Given the description of an element on the screen output the (x, y) to click on. 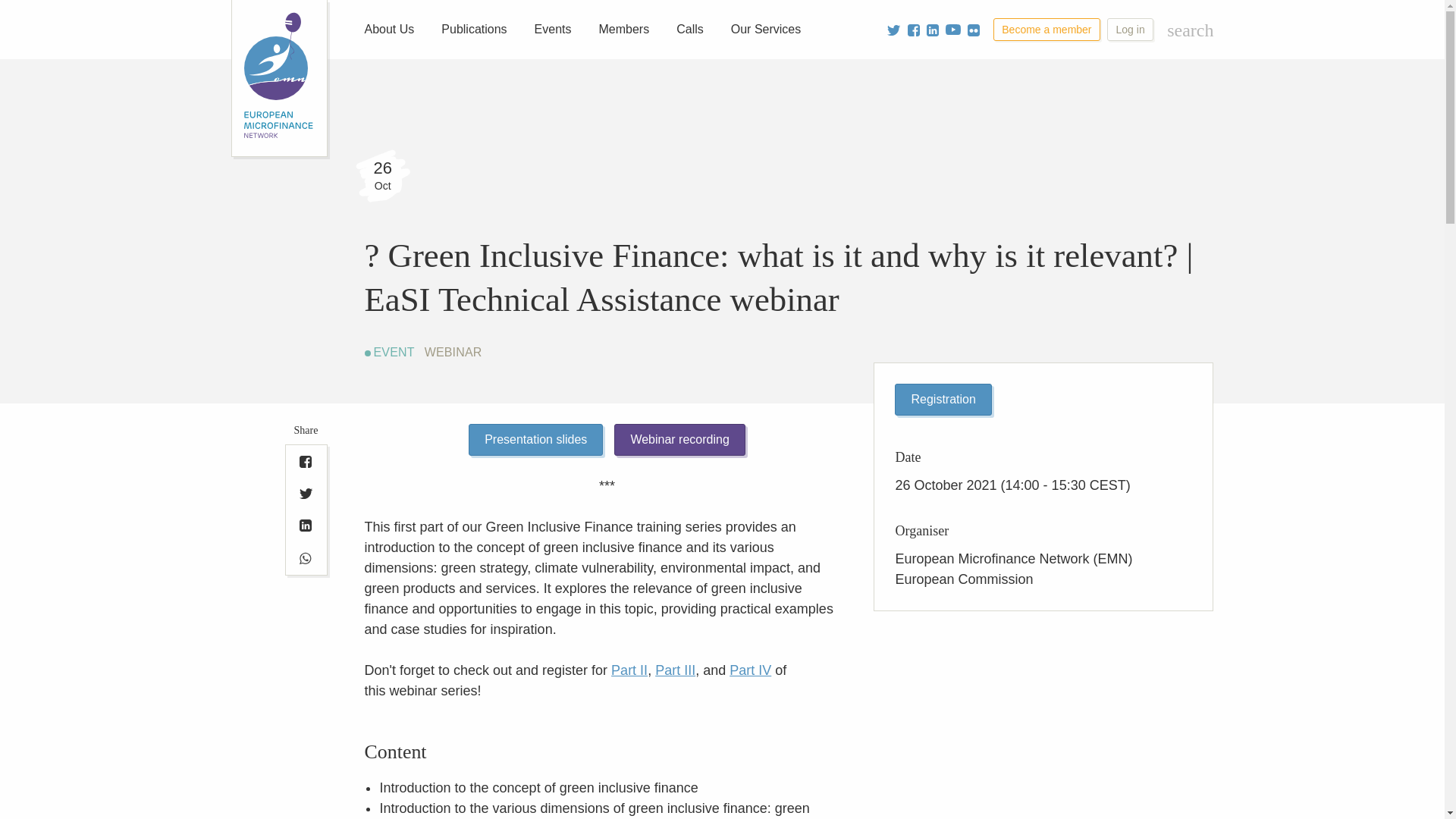
Registration (943, 399)
Calls (689, 29)
Our Services (765, 29)
Log in (1129, 29)
search (1189, 30)
Members (624, 29)
Become a member (1046, 29)
Part III (675, 670)
Part II (629, 670)
Facebook share (305, 461)
About Us (389, 29)
Part IV (750, 670)
WhatsApp (305, 557)
Webinar recording (679, 439)
